Given the description of an element on the screen output the (x, y) to click on. 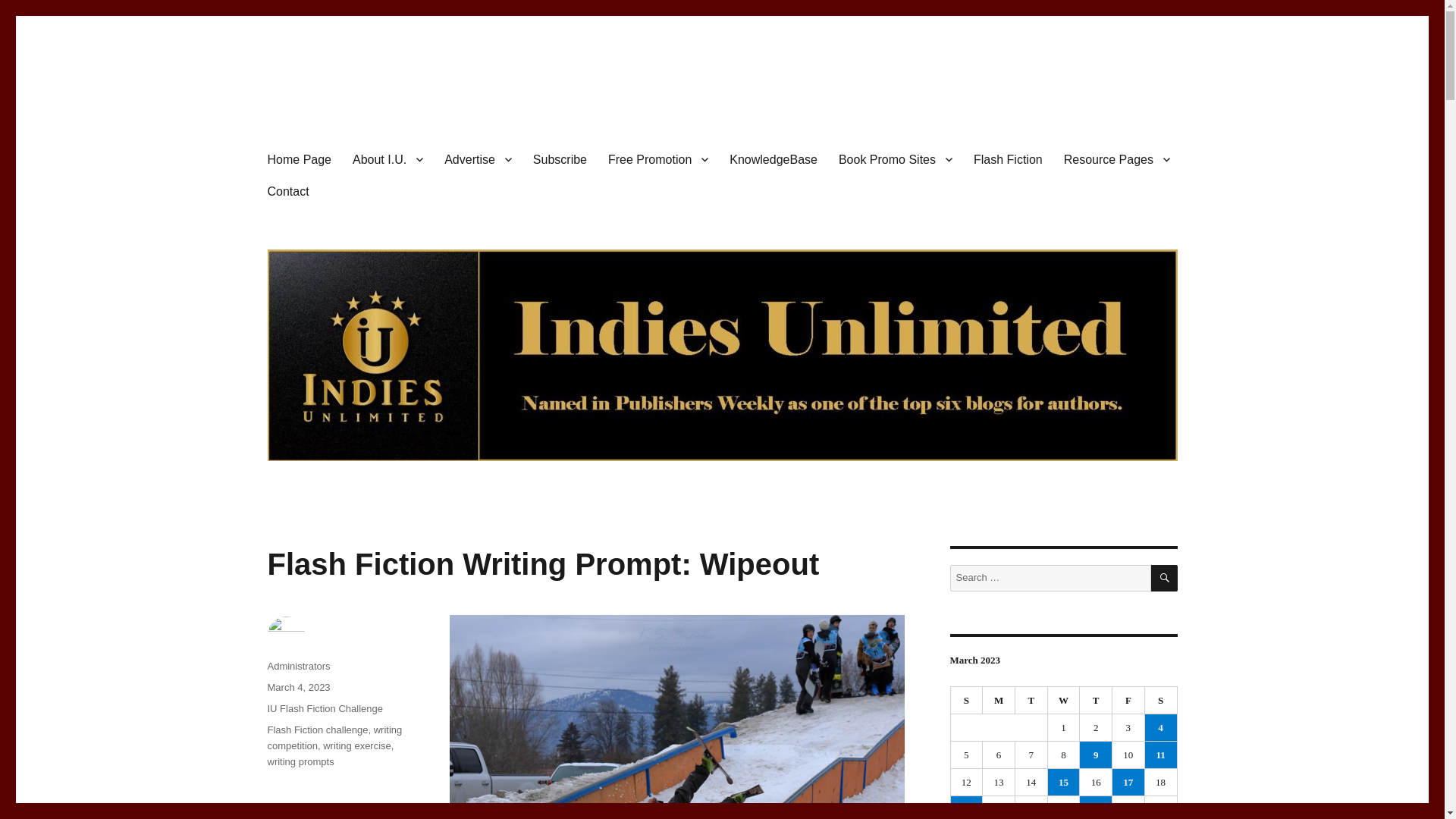
Wednesday (1064, 700)
Thursday (1096, 700)
About I.U. (387, 159)
Flash Fiction (1007, 159)
Resource Pages (1116, 159)
Free Promotion (657, 159)
KnowledgeBase (773, 159)
Friday (1128, 700)
Advertise (477, 159)
Subscribe (559, 159)
Indies Unlimited (348, 114)
Tuesday (1031, 700)
Home Page (299, 159)
Book Promo Sites (895, 159)
Sunday (967, 700)
